Given the description of an element on the screen output the (x, y) to click on. 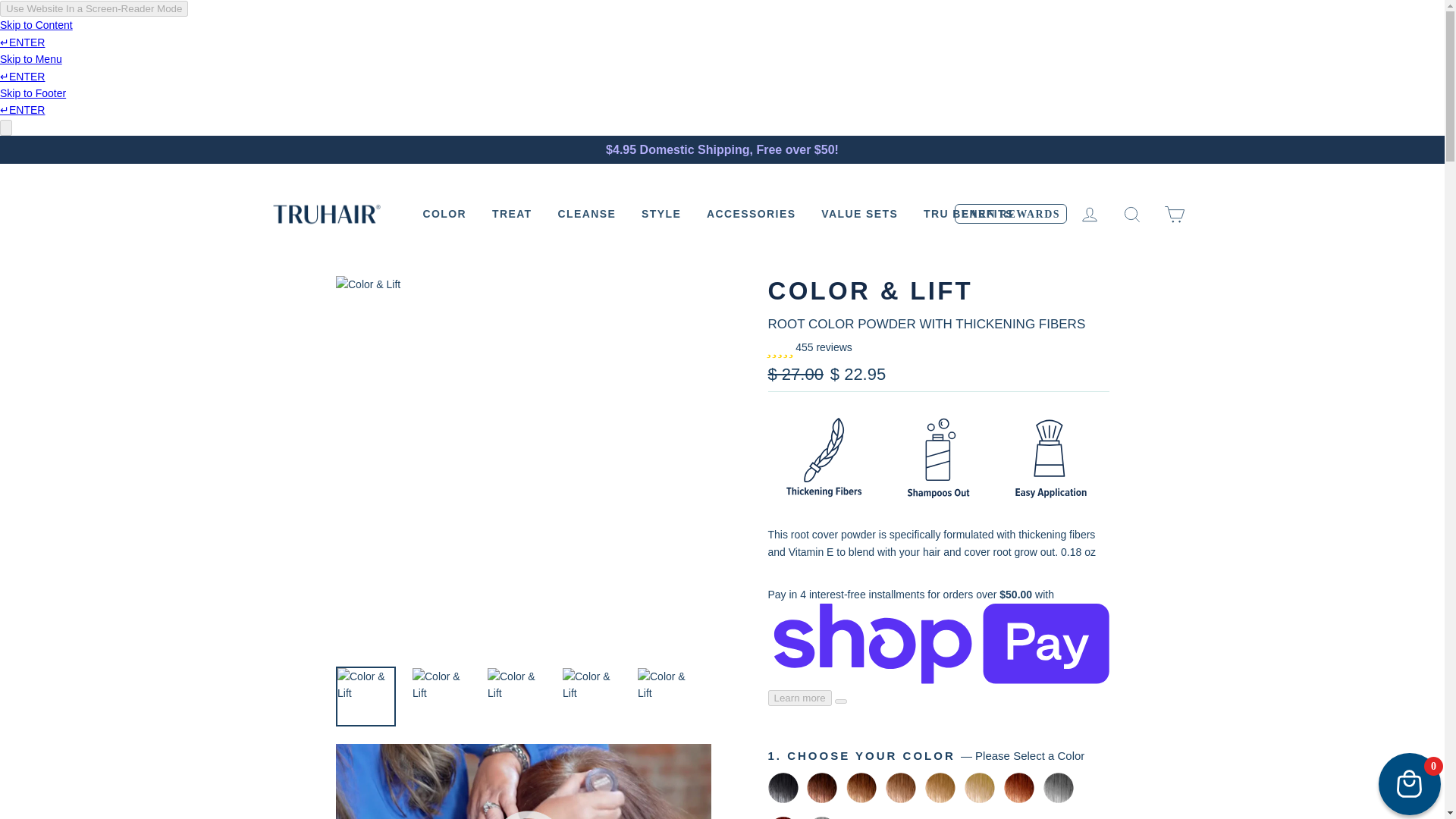
ACCESSORIES (750, 214)
455 reviews (809, 347)
STYLE (661, 214)
TREAT (511, 214)
VALUE SETS (858, 214)
COLOR (443, 214)
EARN REWARDS (1011, 213)
TRU BENEFITS (968, 214)
